Given the description of an element on the screen output the (x, y) to click on. 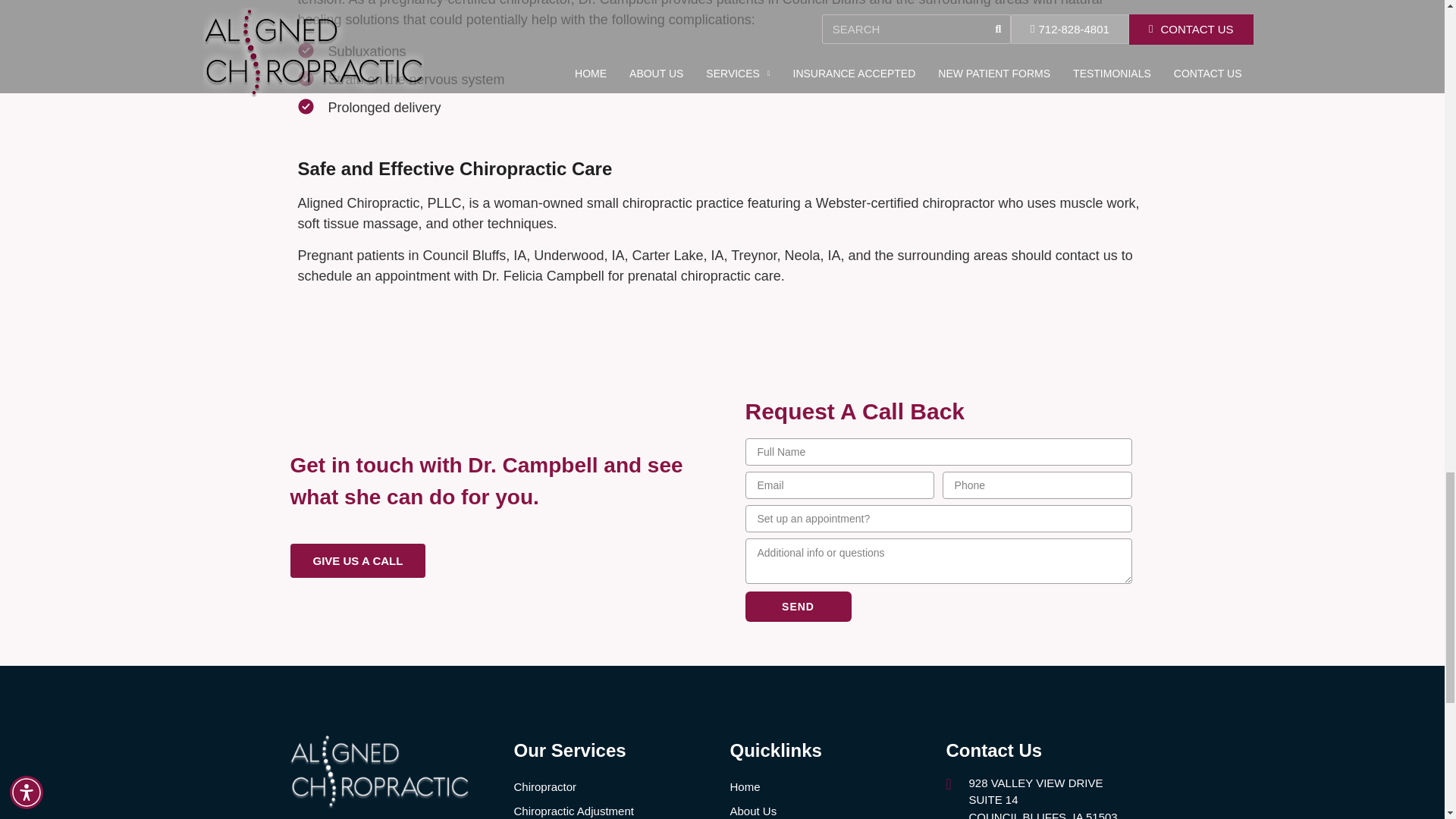
Send (797, 606)
